Given the description of an element on the screen output the (x, y) to click on. 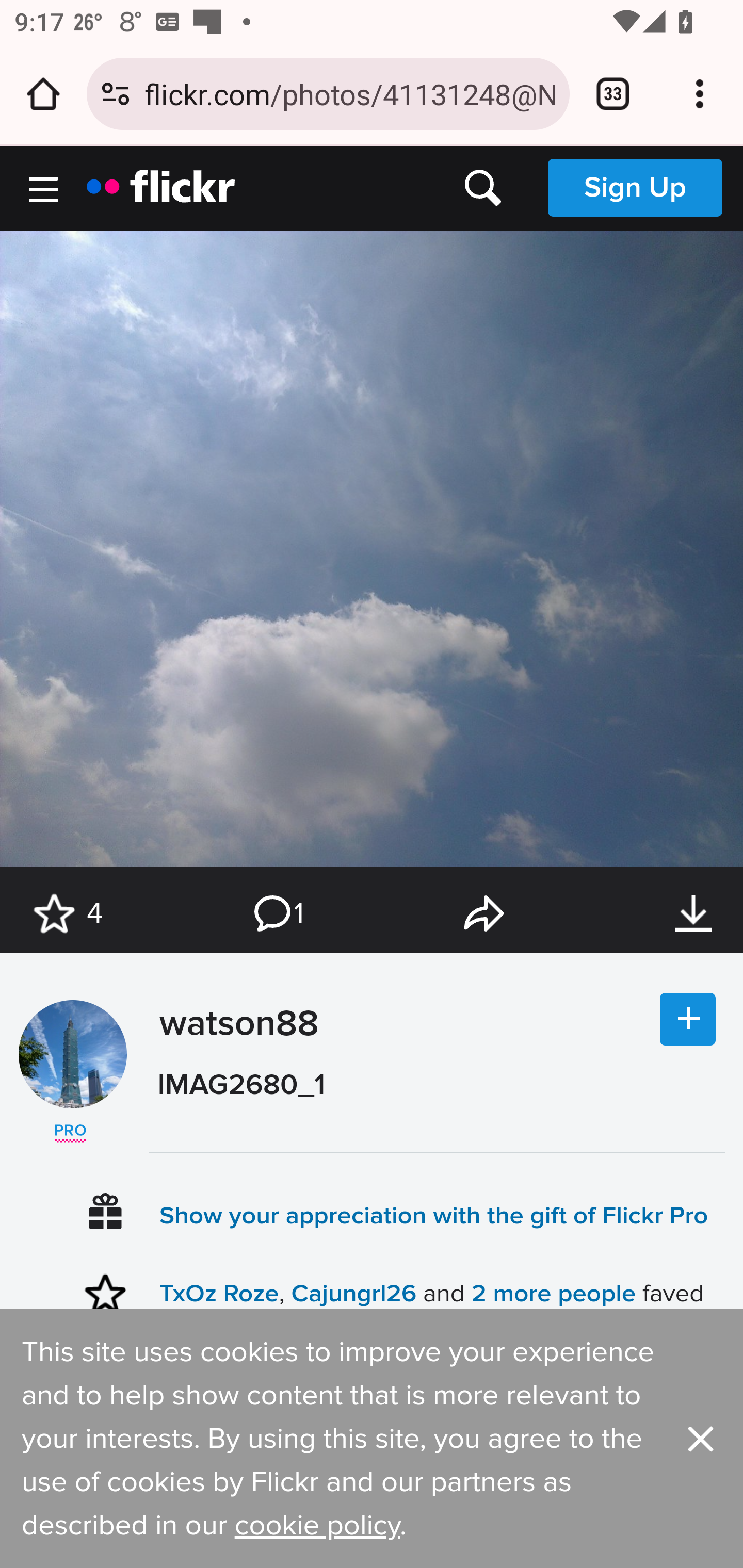
Open the home page (43, 93)
Connection is secure (115, 93)
Switch or close tabs (612, 93)
Customize and control Google Chrome (699, 93)
flickr.com/photos/41131248@N00/8924816052 (349, 92)
Sign Up Sign Up Sign Up (634, 187)
1 (276, 913)
Download this photo (692, 913)
Follow (687, 1019)
watson88 (72, 1054)
watson88 (234, 1072)
Flickr ♥ our Old School Pros (70, 1133)
Show your appreciation with the gift of Flickr Pro (434, 1213)
TxOz Roze (219, 1293)
Cajungrl26 (353, 1293)
2 more people (553, 1293)
